Given the description of an element on the screen output the (x, y) to click on. 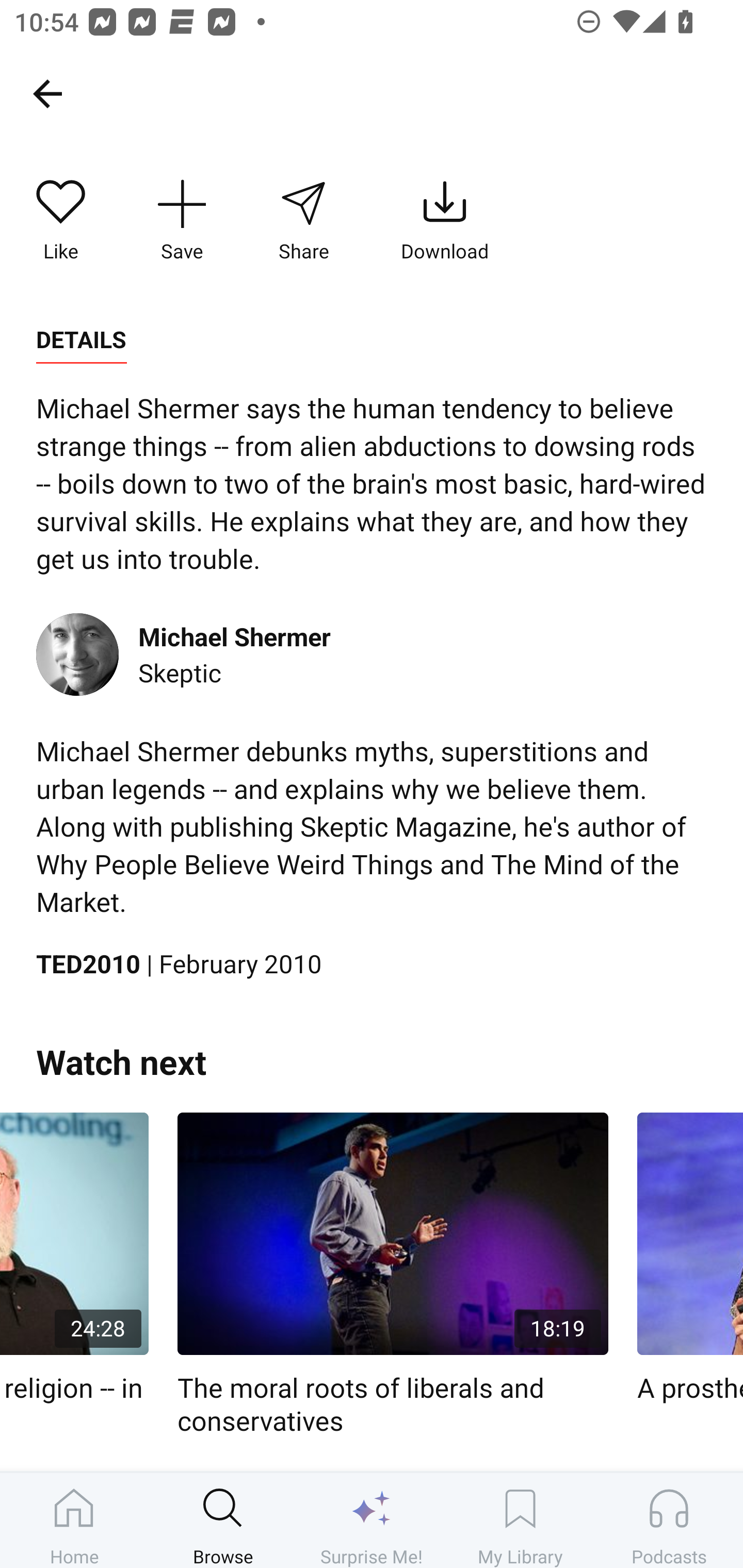
Search, back (47, 92)
Like (60, 220)
Save (181, 220)
Share (302, 220)
Download (444, 220)
DETAILS (80, 339)
Home (74, 1520)
Browse (222, 1520)
Surprise Me! (371, 1520)
My Library (519, 1520)
Podcasts (668, 1520)
